Given the description of an element on the screen output the (x, y) to click on. 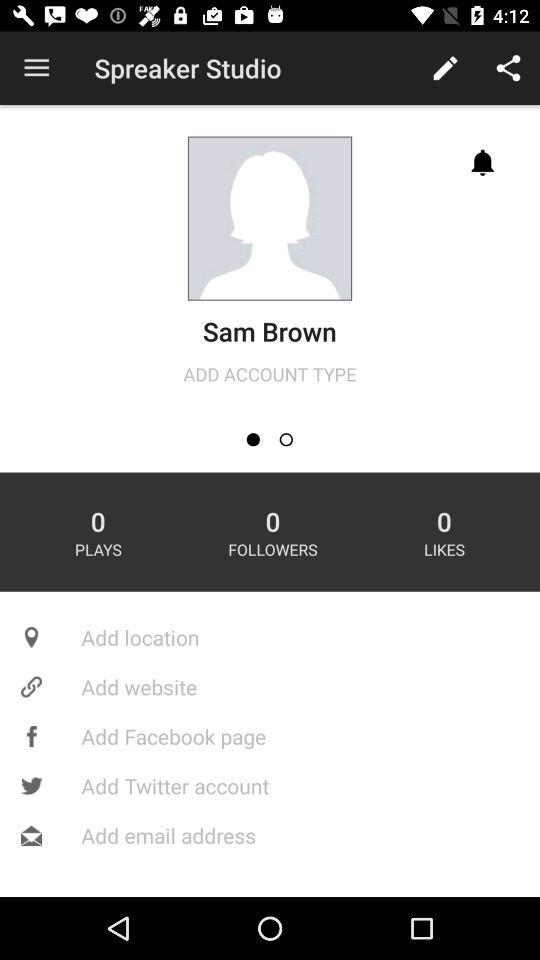
click on the add location field (269, 637)
click on the image above sam brown (269, 219)
click on the bell icon at the top right corner (483, 162)
click on the share symbol at the top right corner (508, 68)
